Given the description of an element on the screen output the (x, y) to click on. 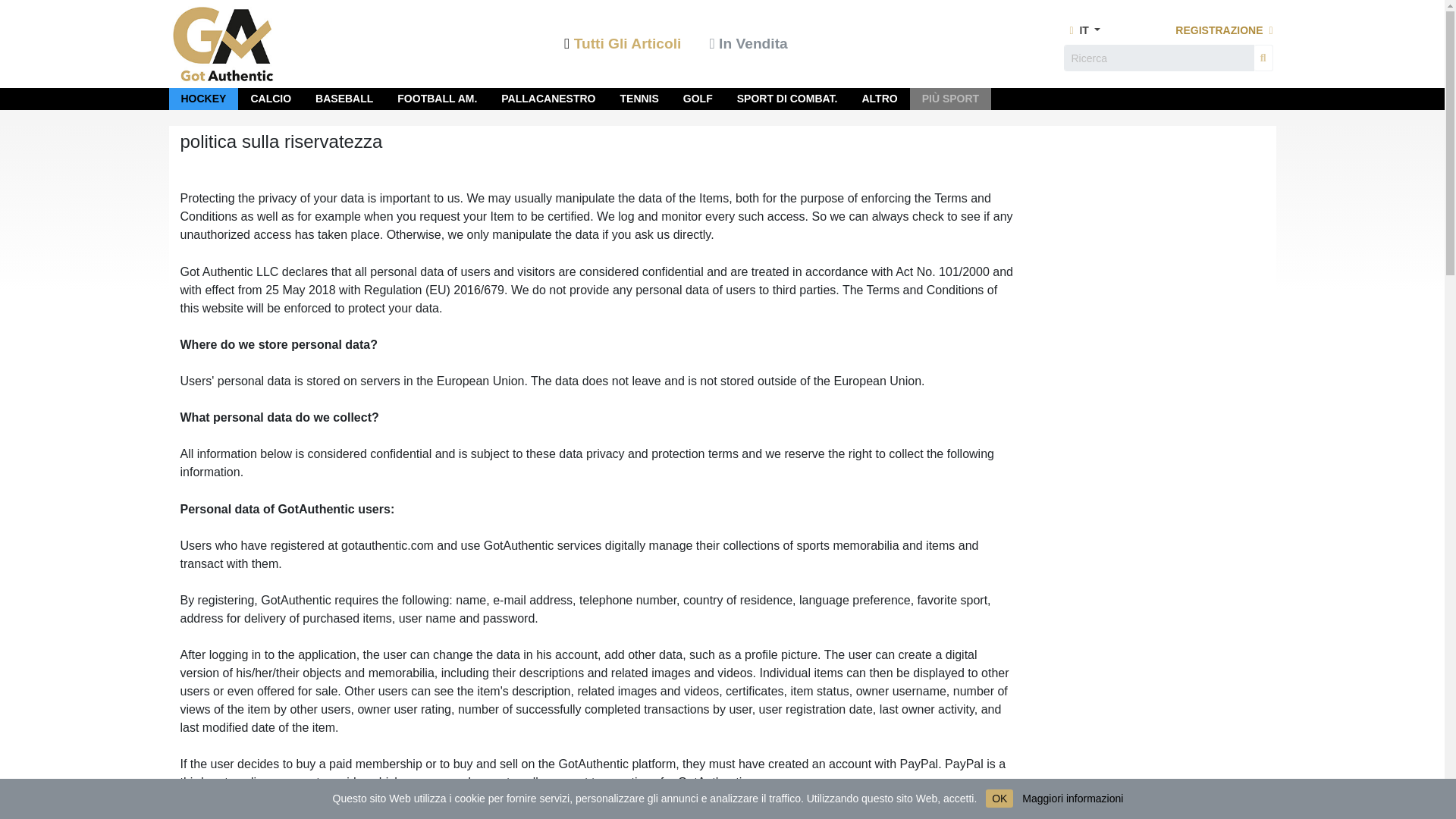
  IT (1081, 30)
BASEBALL (343, 98)
TENNIS (639, 98)
FOOTBALL AM. (437, 98)
Tutti Gli Articoli (624, 45)
CALCIO (270, 98)
GOLF (697, 98)
PALLACANESTRO (547, 98)
ALTRO (878, 98)
Registrazione (1223, 30)
